Given the description of an element on the screen output the (x, y) to click on. 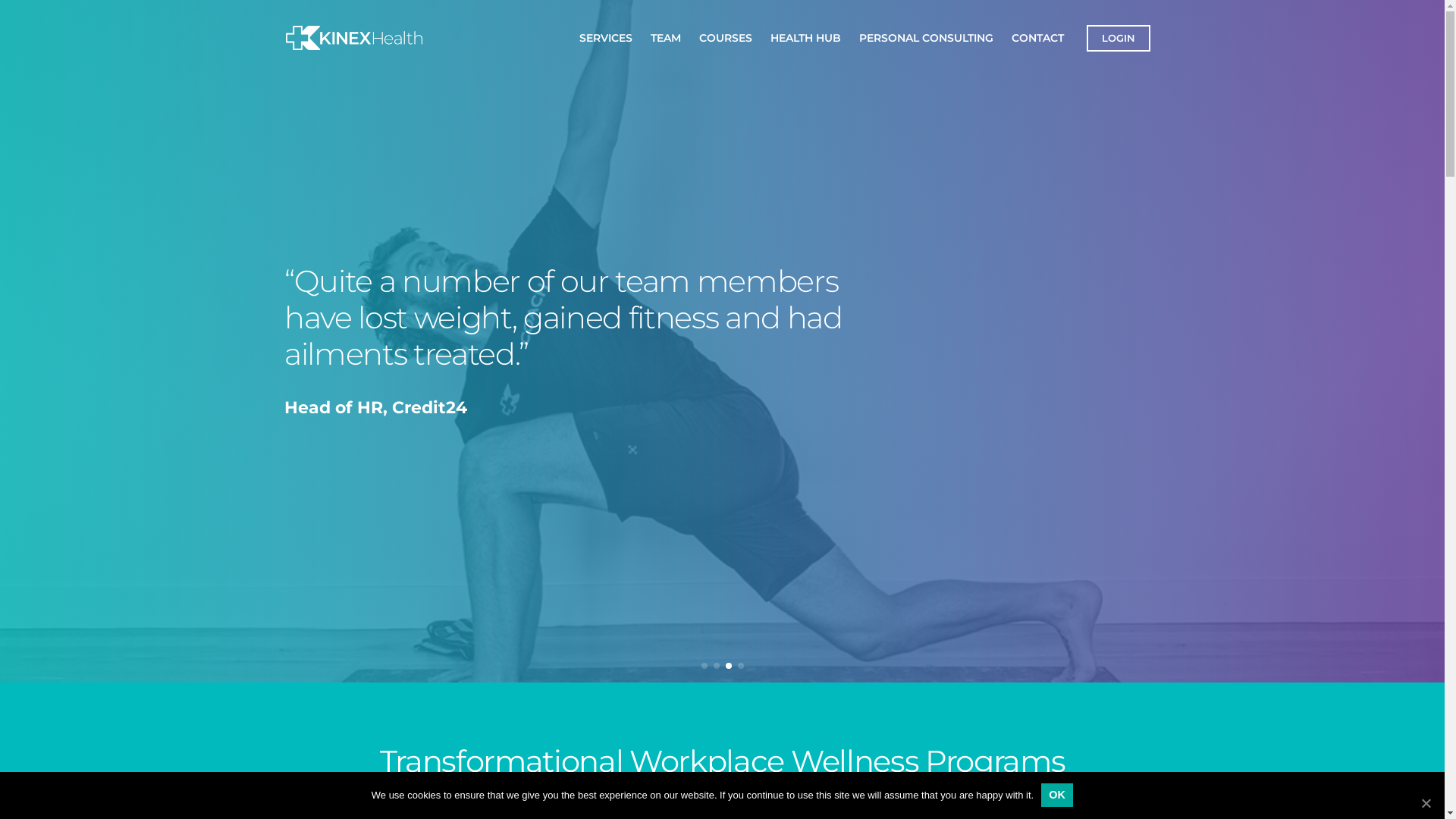
HEALTH HUB Element type: text (805, 36)
LOGIN Element type: text (1117, 37)
COURSES Element type: text (725, 36)
CONTACT Element type: text (1037, 36)
Skip to primary navigation Element type: text (15, 0)
SERVICES Element type: text (605, 36)
PERSONAL CONSULTING Element type: text (925, 36)
OK Element type: text (1057, 794)
Kinex Health Element type: text (326, 57)
TEAM Element type: text (665, 36)
